Given the description of an element on the screen output the (x, y) to click on. 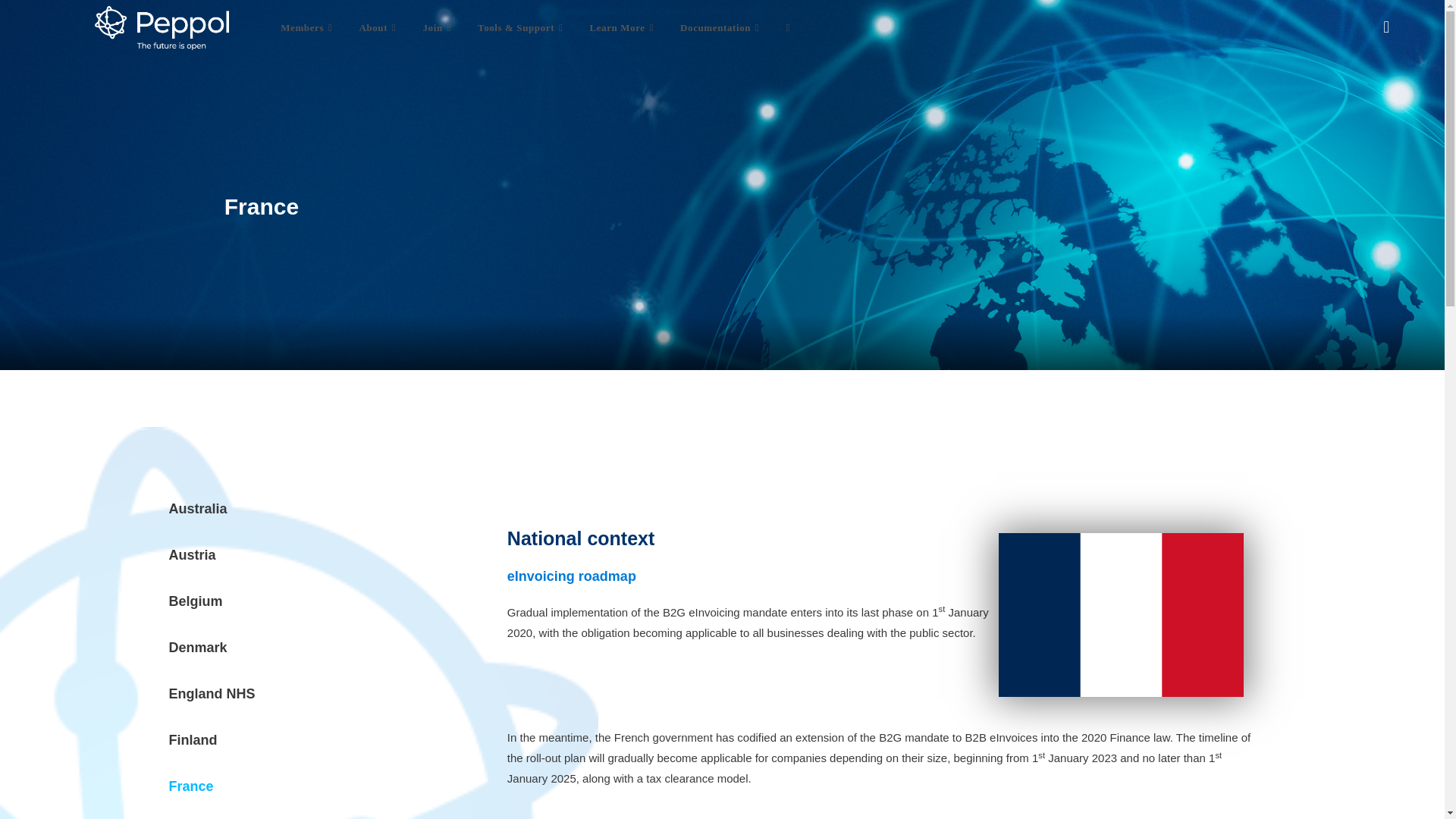
Join (437, 28)
About (378, 28)
Members (308, 28)
Learn More (623, 28)
Documentation (721, 28)
